Given the description of an element on the screen output the (x, y) to click on. 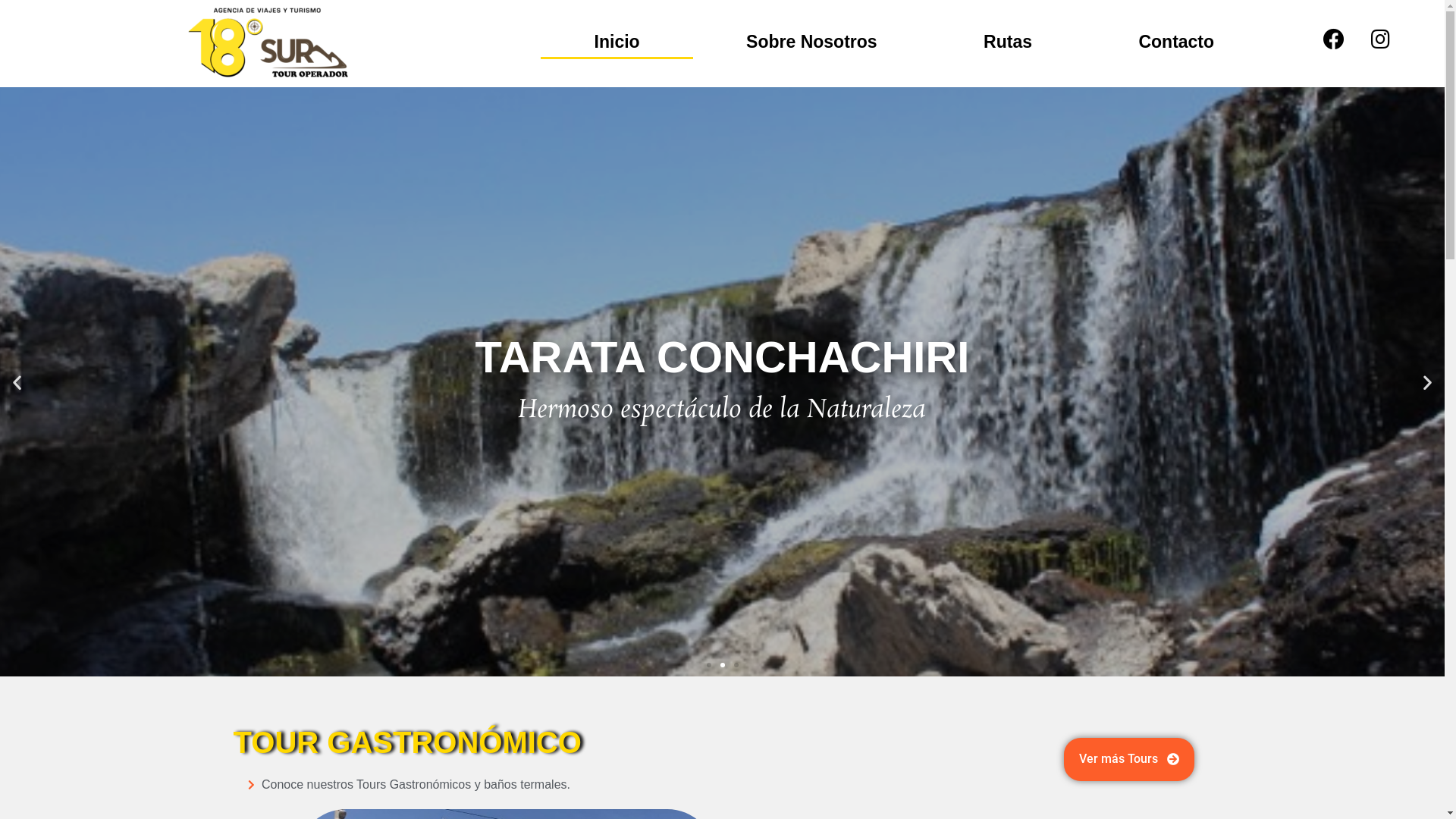
Contacto Element type: text (1176, 41)
Sobre Nosotros Element type: text (811, 41)
Rutas Element type: text (1007, 41)
Inicio Element type: text (616, 41)
